Given the description of an element on the screen output the (x, y) to click on. 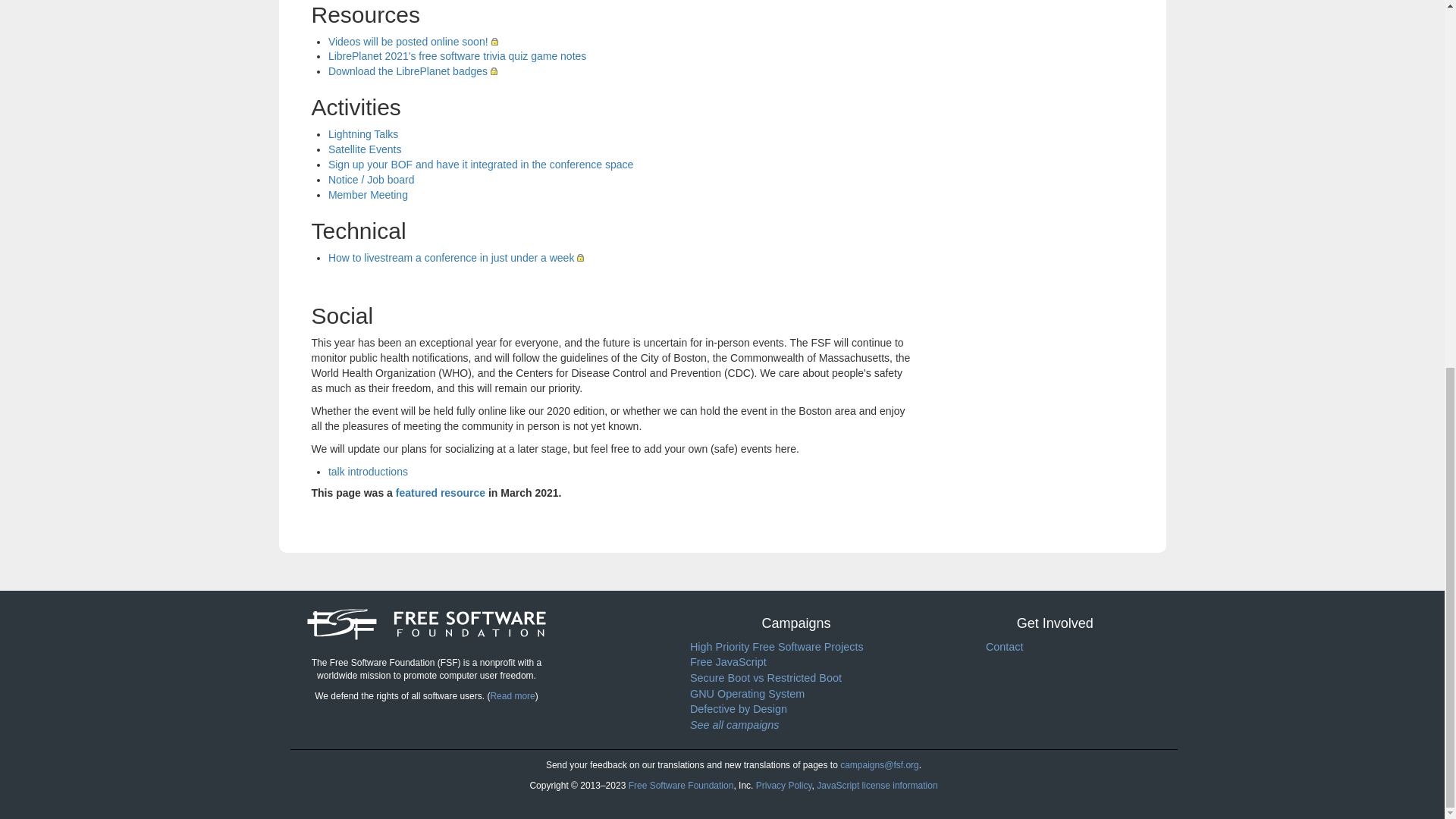
Lightning Talks (363, 133)
Videos will be posted online soon! (413, 40)
Find out how to contact us (680, 785)
Talk introductions (368, 471)
Download the LibrePlanet badges (413, 70)
LibrePlanet 2021's free software trivia quiz game notes (457, 55)
Featured resources (440, 492)
